Given the description of an element on the screen output the (x, y) to click on. 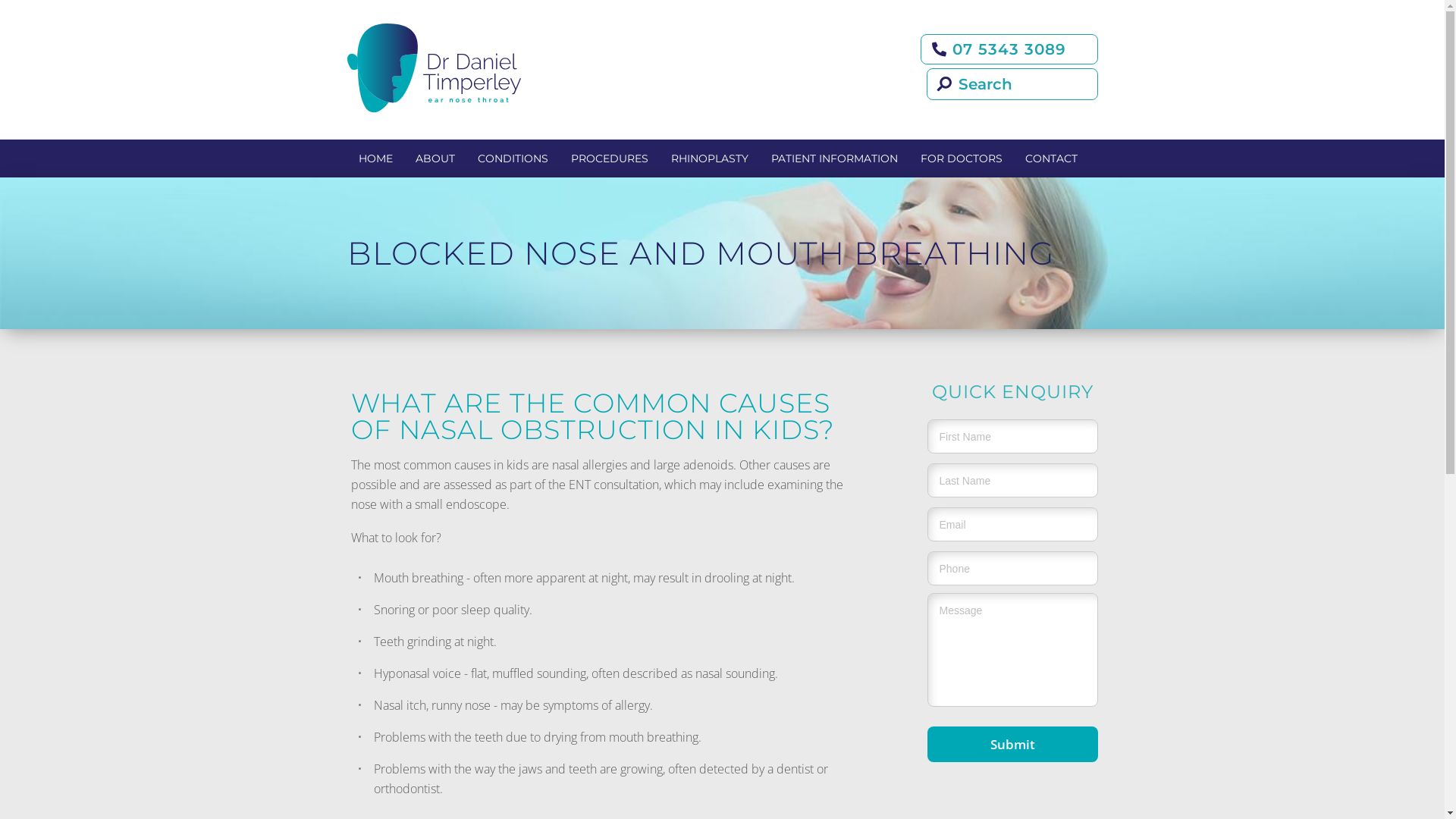
New Patient Registration Element type: text (876, 258)
Tonsillectomy and Adenotonsillectomy Element type: text (676, 356)
PATIENT INFORMATION Element type: text (834, 158)
Microlaryngoscopy and Panendoscopy Element type: text (676, 453)
Female Rhinoplasty Gallery Element type: text (776, 225)
Male Rhinoplasty Gallery Element type: text (776, 258)
Appointment Request Element type: text (876, 323)
Submit Element type: text (1011, 744)
ABOUT Element type: text (434, 158)
CONTACT Element type: text (1050, 158)
Dr Daniel Timperley Home Element type: hover (434, 67)
Skip to main content Element type: text (54, 0)
Modified UPPP and tongue channelling Element type: text (676, 519)
RHINOPLASTY Element type: text (709, 158)
Dacryocystorhinostomy (DCR) Element type: text (676, 551)
Before your operation Element type: text (876, 193)
Resources Element type: text (876, 290)
07 5343 3089 Element type: text (1009, 49)
Kids Element type: text (582, 193)
Grommets Element type: text (676, 388)
Adults Element type: text (582, 225)
Sinus surgery Element type: text (676, 258)
Dr Daniel Timperley Element type: text (520, 193)
Enter the terms you wish to search for. Element type: hover (598, 86)
Rhinoplasty Procedure Element type: text (776, 193)
CONDITIONS Element type: text (511, 158)
Adenoidectomy Element type: text (676, 323)
HOME Element type: text (375, 158)
Inferior turbinate reduction Element type: text (676, 290)
Dr Daniel Timperley Home Element type: hover (472, 67)
Patient Referral Element type: text (1025, 193)
Myringoplasty Element type: text (676, 486)
Reconstructive and Revision Gallery Element type: text (776, 290)
Search Element type: text (41, 14)
Septoplasty and turbinate reduction Element type: text (676, 225)
PROCEDURES Element type: text (609, 158)
FOR DOCTORS Element type: text (960, 158)
Exostoses Removal Element type: text (676, 421)
Rhinoplasty Element type: text (676, 193)
Postop Instructions Element type: text (876, 225)
